Given the description of an element on the screen output the (x, y) to click on. 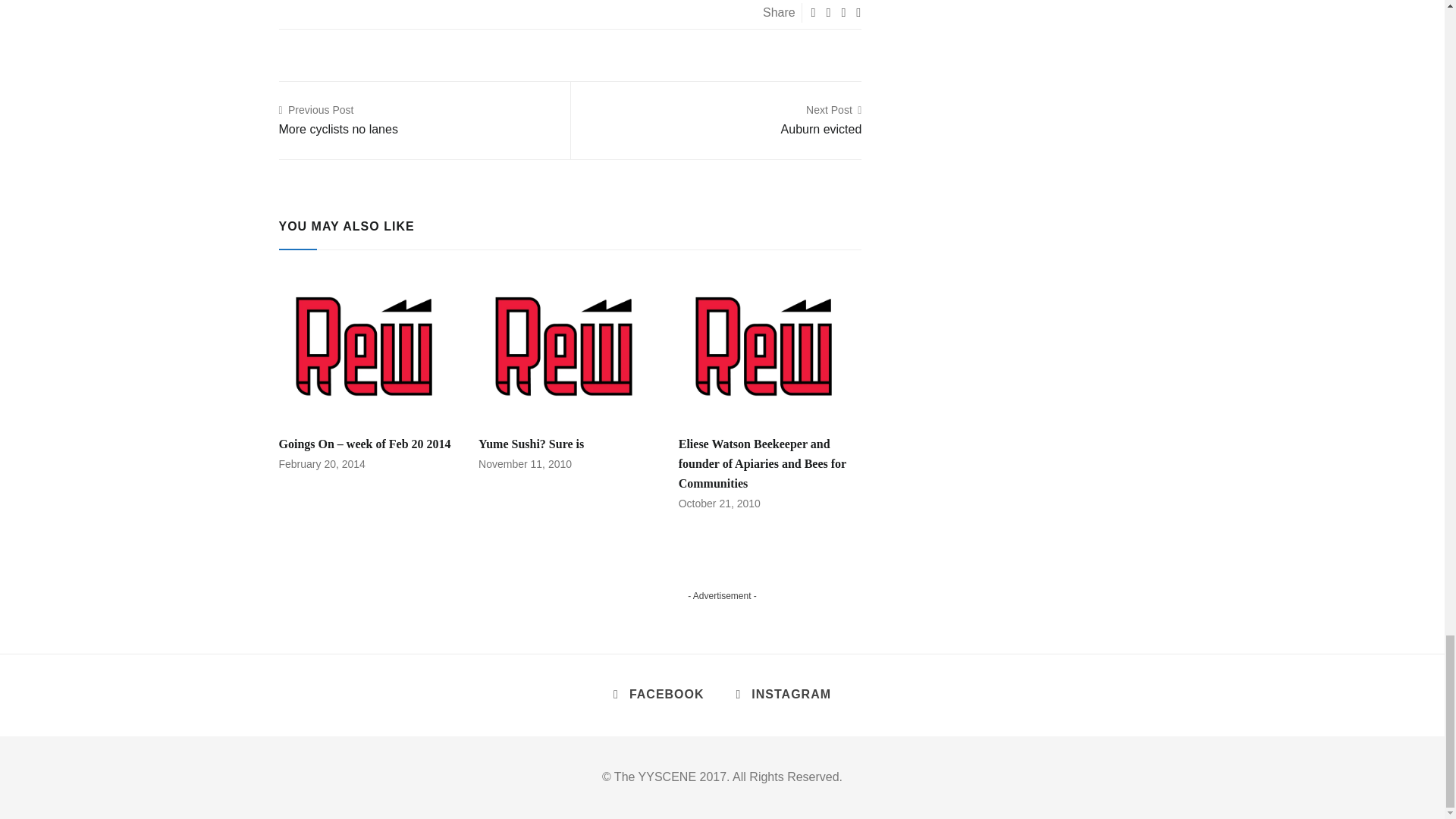
Yume Sushi? Sure is (820, 120)
Yume Sushi? Sure is (531, 443)
